Given the description of an element on the screen output the (x, y) to click on. 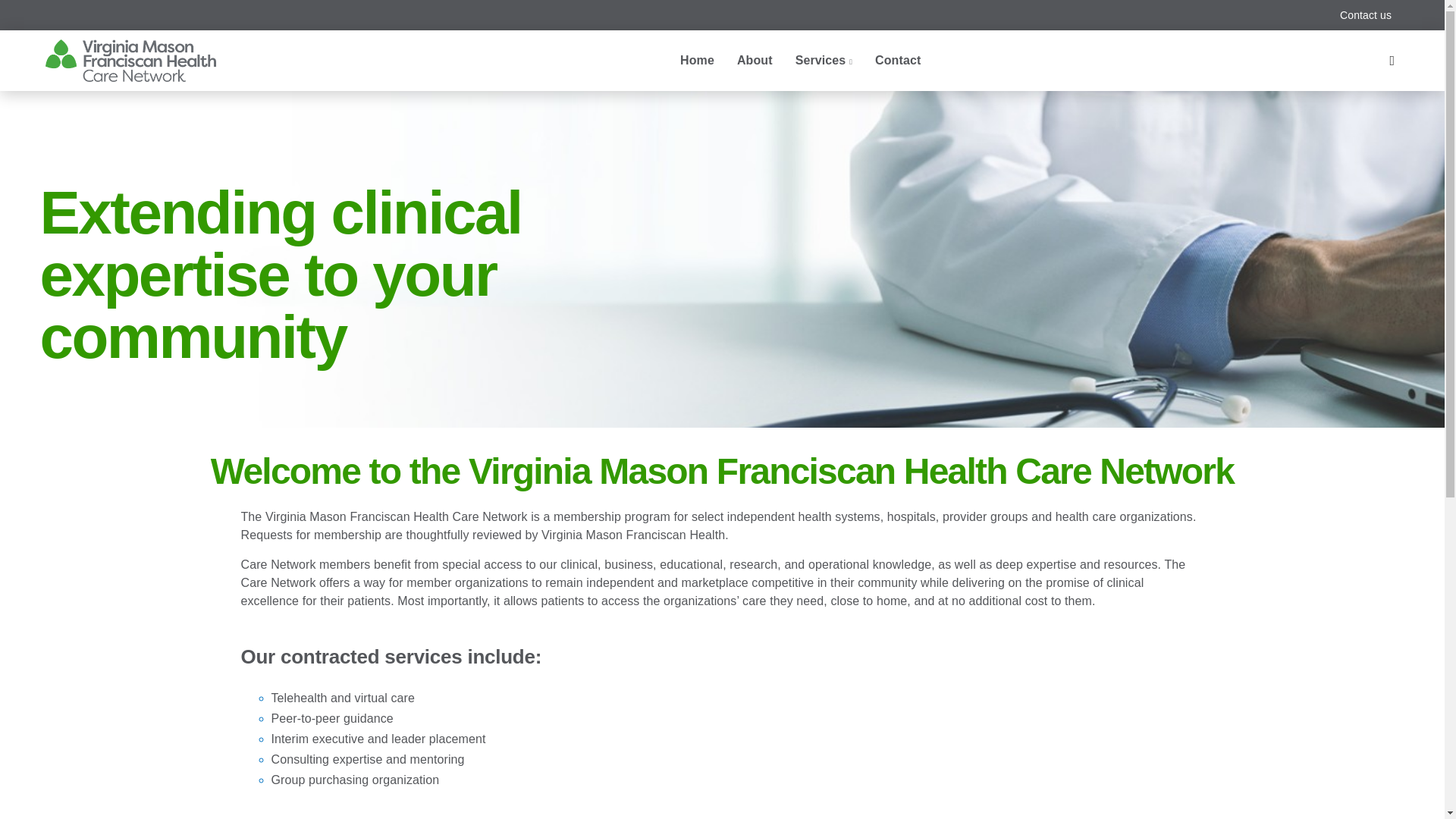
Services (823, 60)
Contact us (1365, 15)
Home (696, 60)
About (754, 60)
Contact (897, 60)
